Given the description of an element on the screen output the (x, y) to click on. 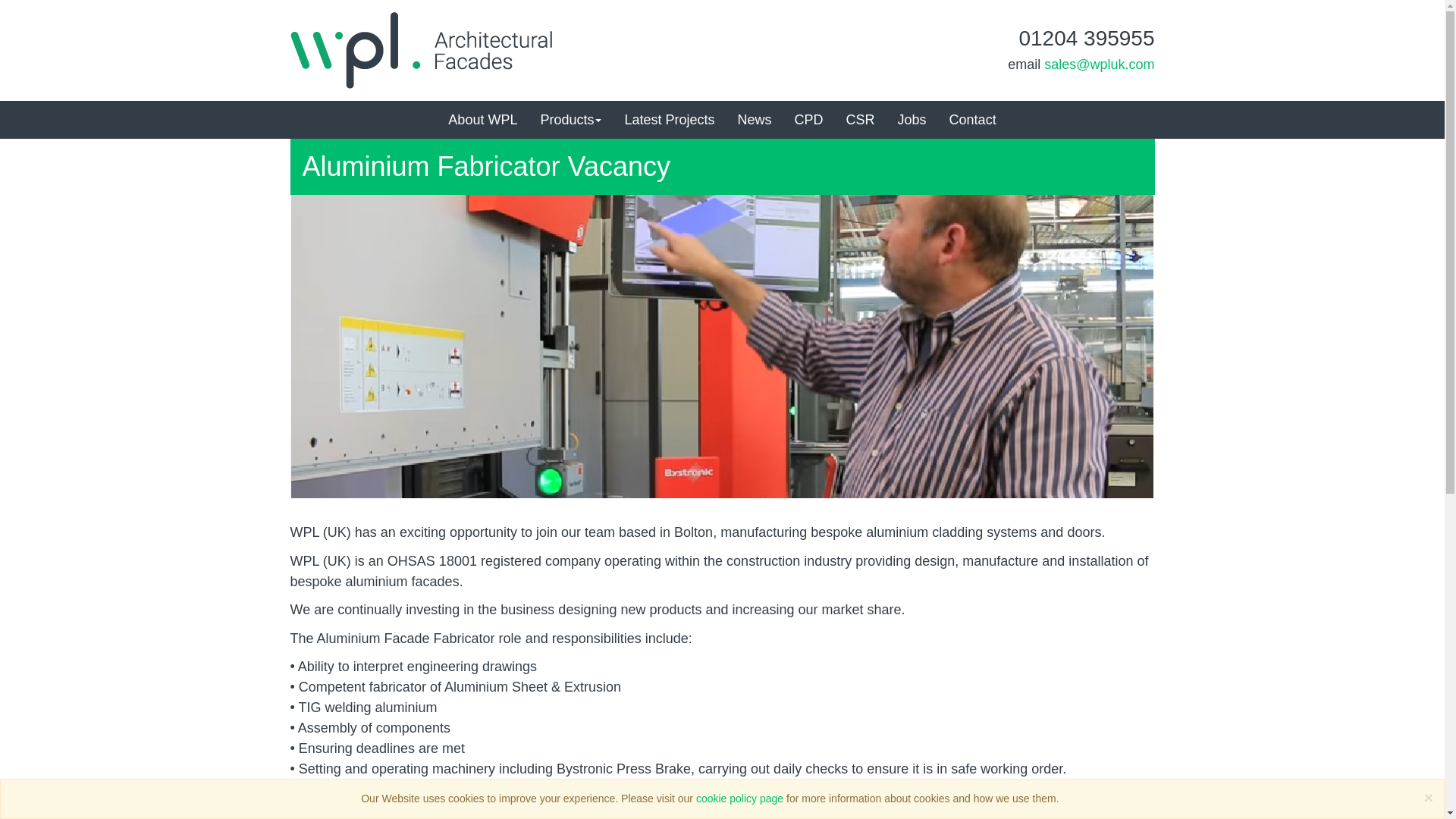
Products (570, 119)
Jobs (911, 119)
cookie policy page (739, 798)
CSR (860, 119)
Contact (972, 119)
About WPL (482, 119)
Latest Projects (668, 119)
CPD (808, 119)
News (754, 119)
